Given the description of an element on the screen output the (x, y) to click on. 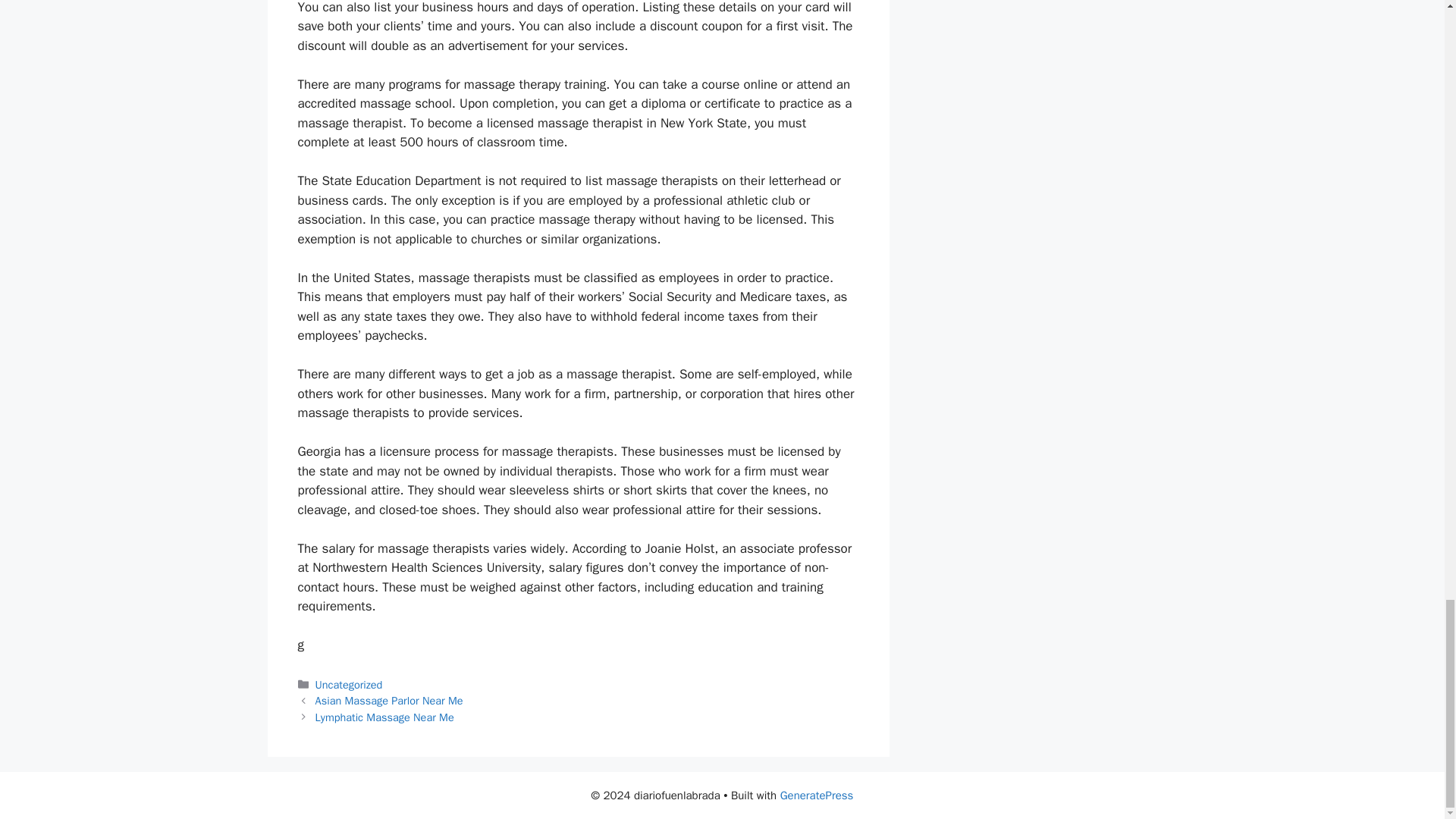
Uncategorized (348, 684)
Lymphatic Massage Near Me (384, 716)
GeneratePress (816, 795)
Asian Massage Parlor Near Me (389, 700)
